Given the description of an element on the screen output the (x, y) to click on. 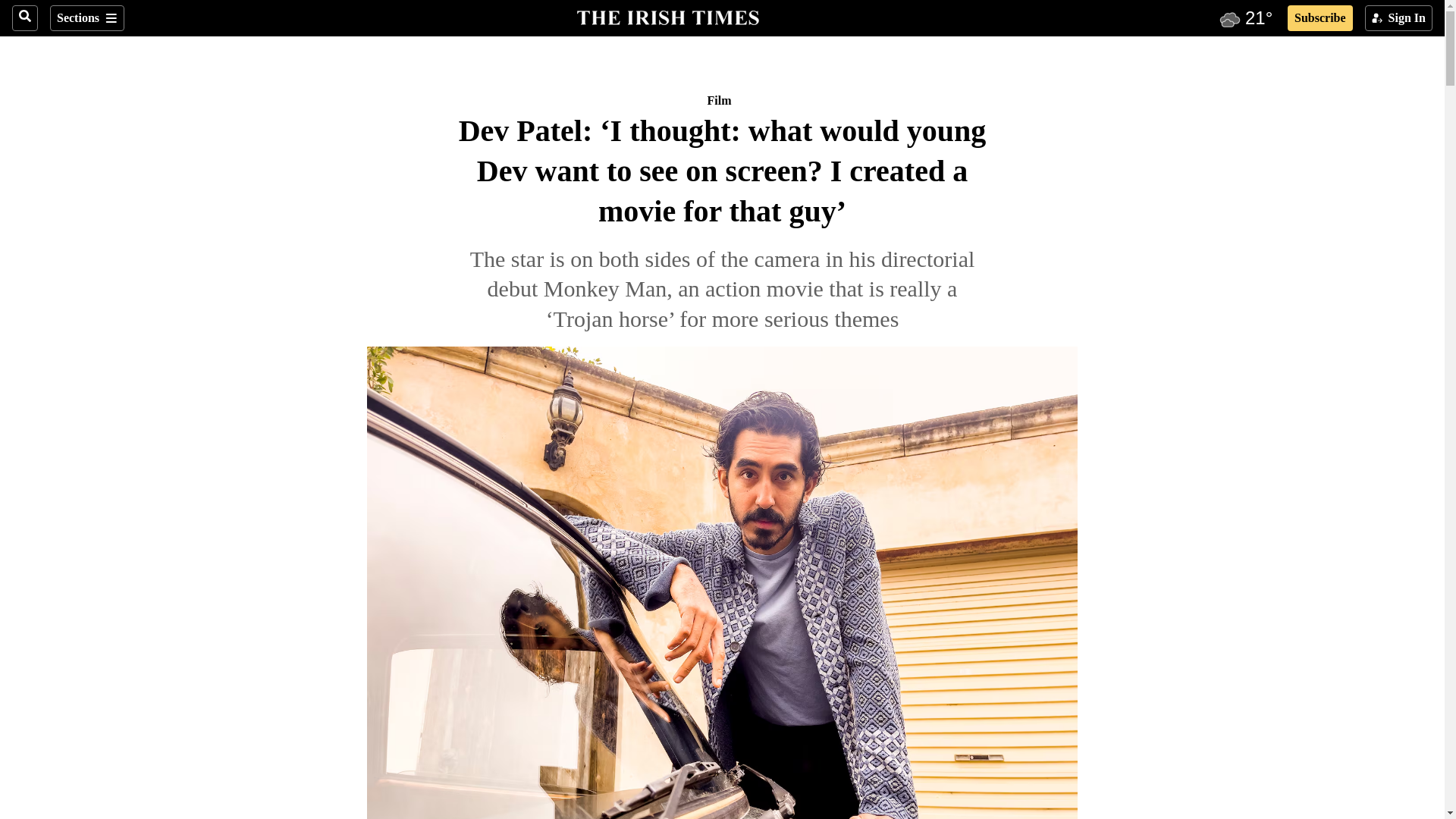
The Irish Times (667, 16)
Sign In (1398, 17)
Sections (86, 17)
Subscribe (1319, 17)
